Given the description of an element on the screen output the (x, y) to click on. 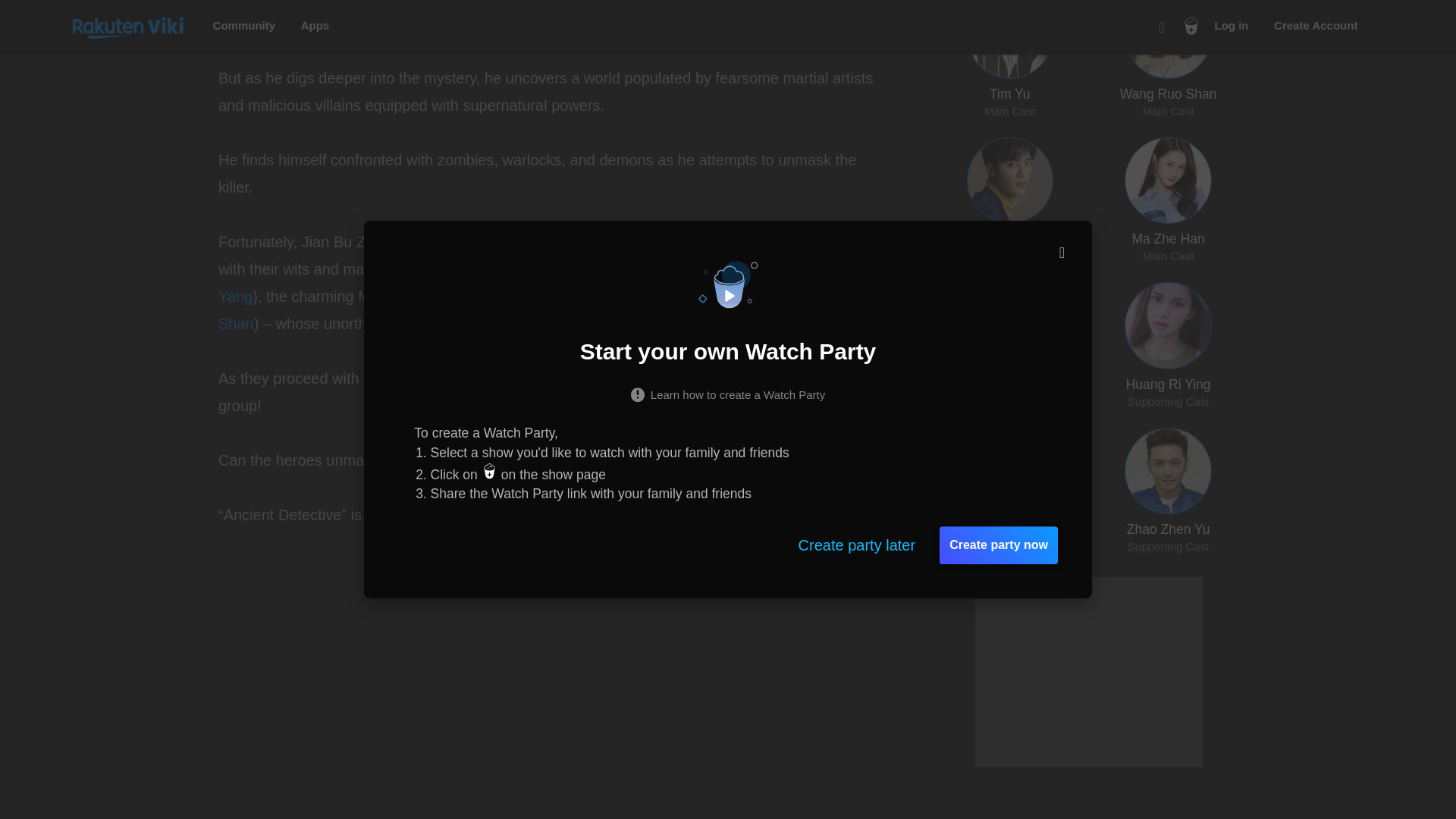
Tim Yu (325, 2)
